Given the description of an element on the screen output the (x, y) to click on. 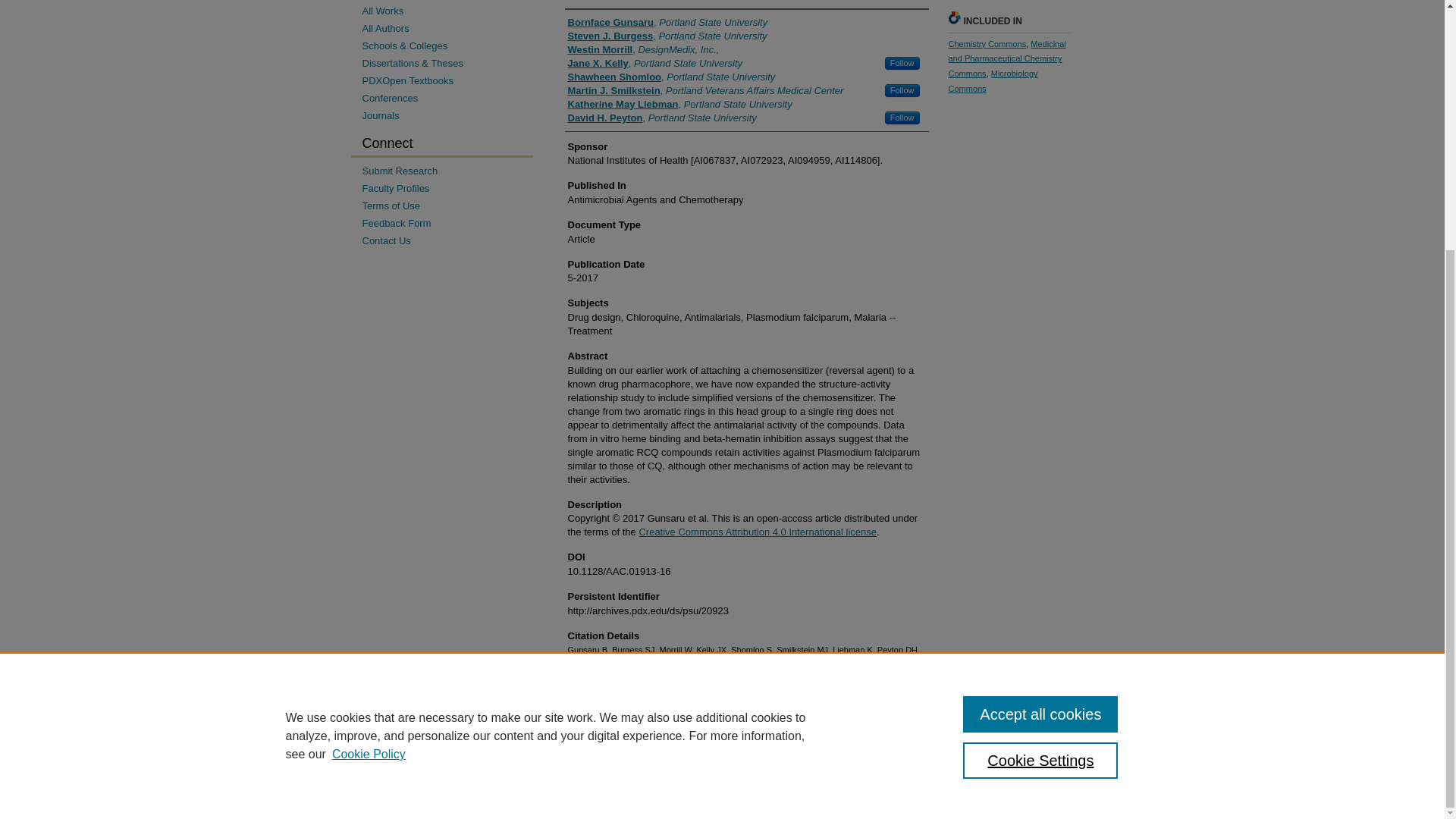
Bornface Gunsaru, Portland State University (667, 22)
Steven J. Burgess, Portland State University (667, 36)
Follow Martin J. Smilkstein (902, 90)
Follow (902, 117)
Creative Commons Attribution 4.0 International license (757, 531)
Jane X. Kelly, Portland State University (654, 63)
David H. Peyton, Portland State University (661, 118)
Chemistry Commons (986, 43)
Follow David H. Peyton (902, 117)
Shawheen Shomloo, Portland State University (670, 77)
Westin Morrill, DesignMedix, Inc., (643, 49)
Katherine May Liebman, Portland State University (679, 104)
Follow (902, 90)
Follow Jane X. Kelly (902, 62)
